Given the description of an element on the screen output the (x, y) to click on. 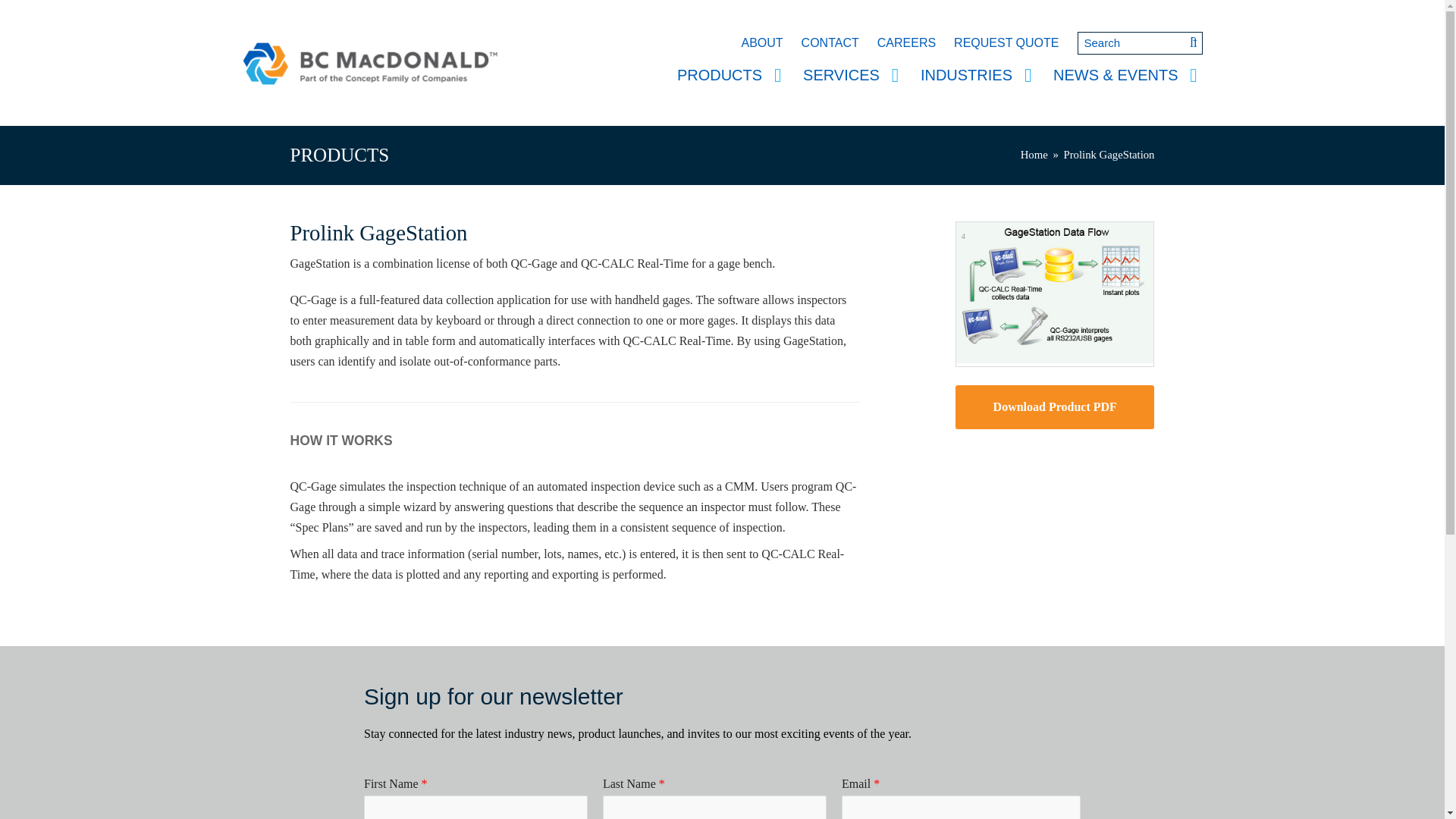
ABOUT (762, 42)
CONTACT (829, 42)
CAREERS (905, 42)
REQUEST QUOTE (1005, 42)
